Given the description of an element on the screen output the (x, y) to click on. 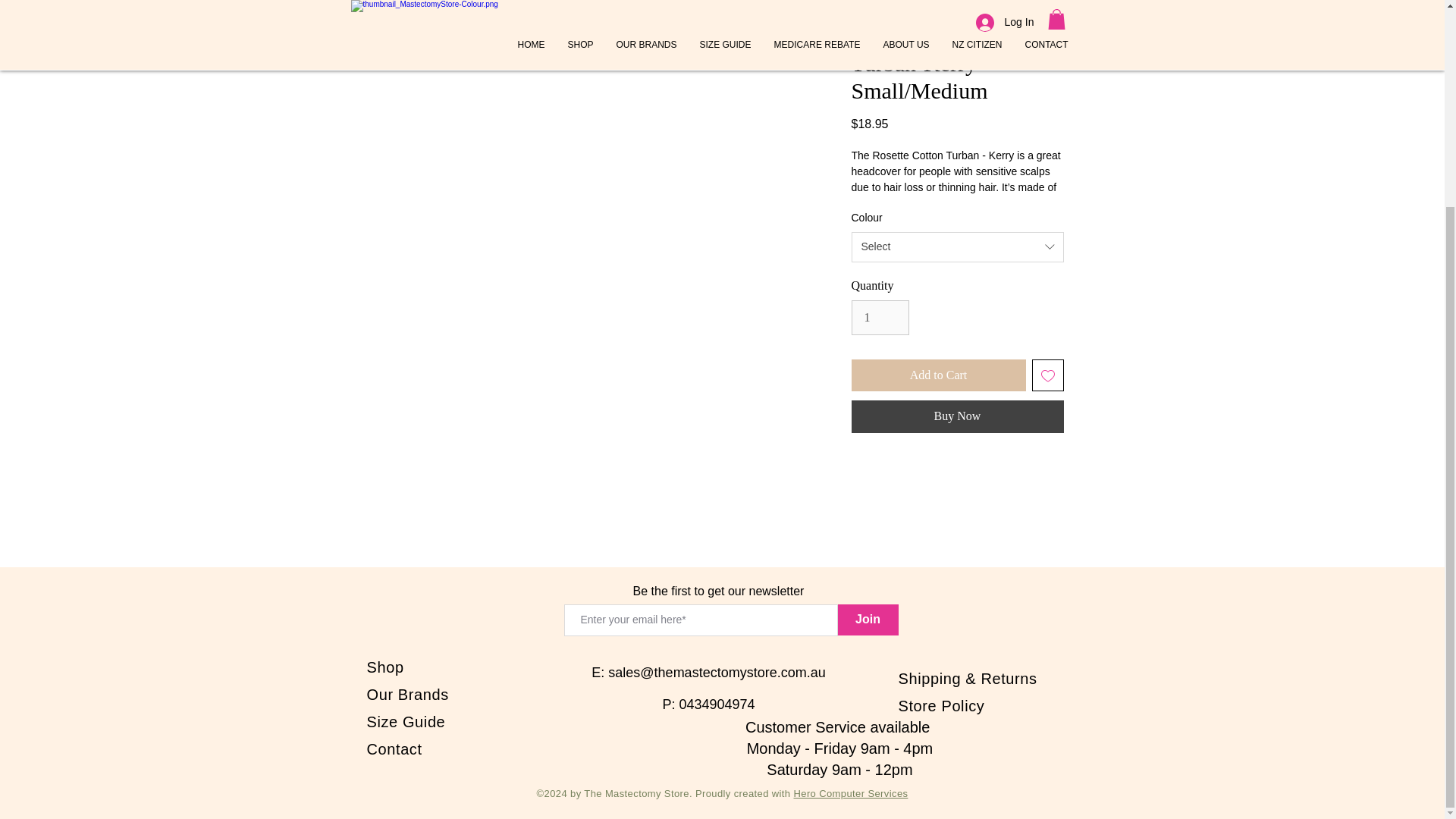
Contact (394, 749)
Buy Now (956, 416)
Hero Computer Services (850, 793)
Our Brands (407, 694)
Size Guide (405, 721)
1 (879, 317)
Select (956, 246)
Add to Cart (937, 375)
Shop (385, 667)
Join (867, 619)
